Given the description of an element on the screen output the (x, y) to click on. 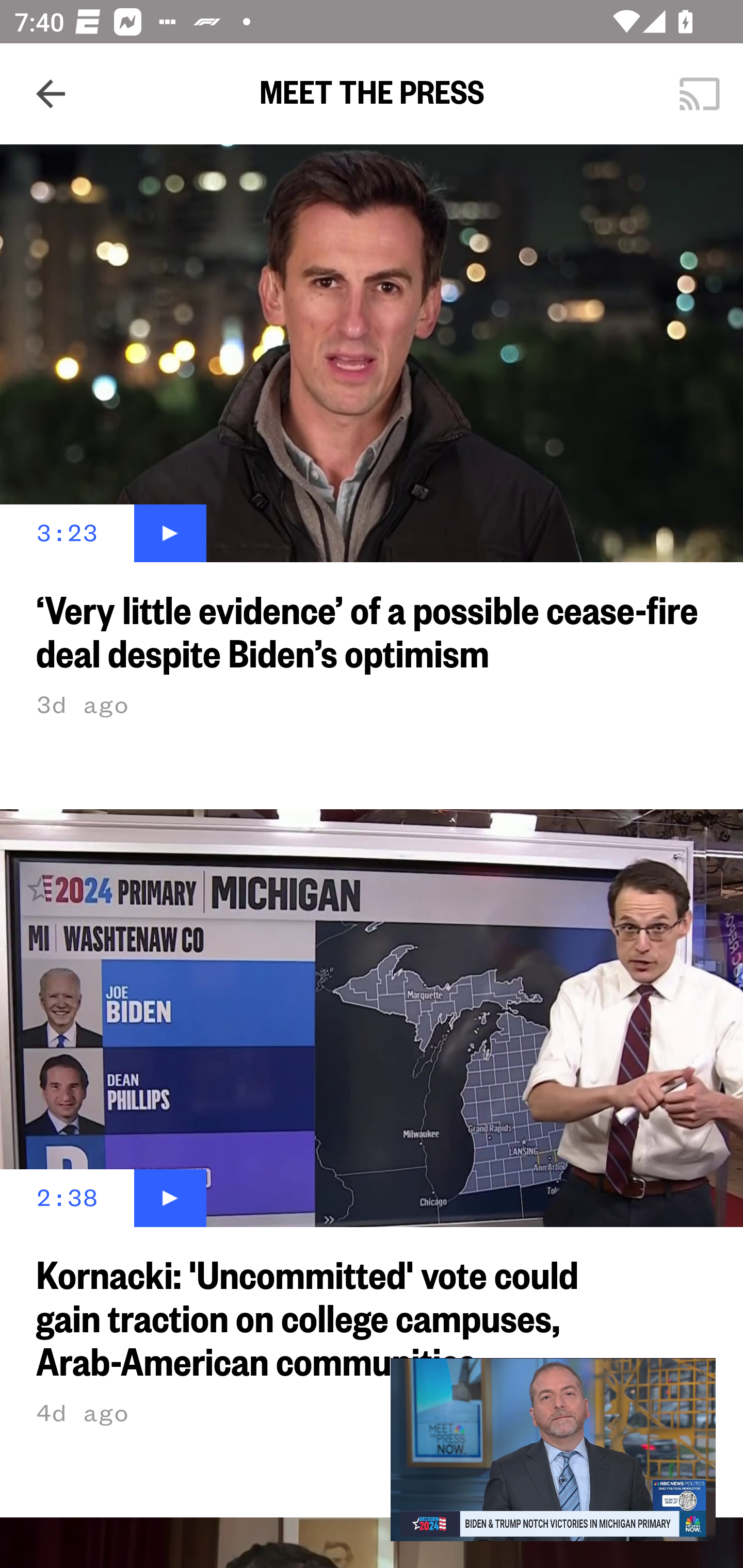
Navigate up (50, 93)
Cast. Disconnected (699, 93)
